Given the description of an element on the screen output the (x, y) to click on. 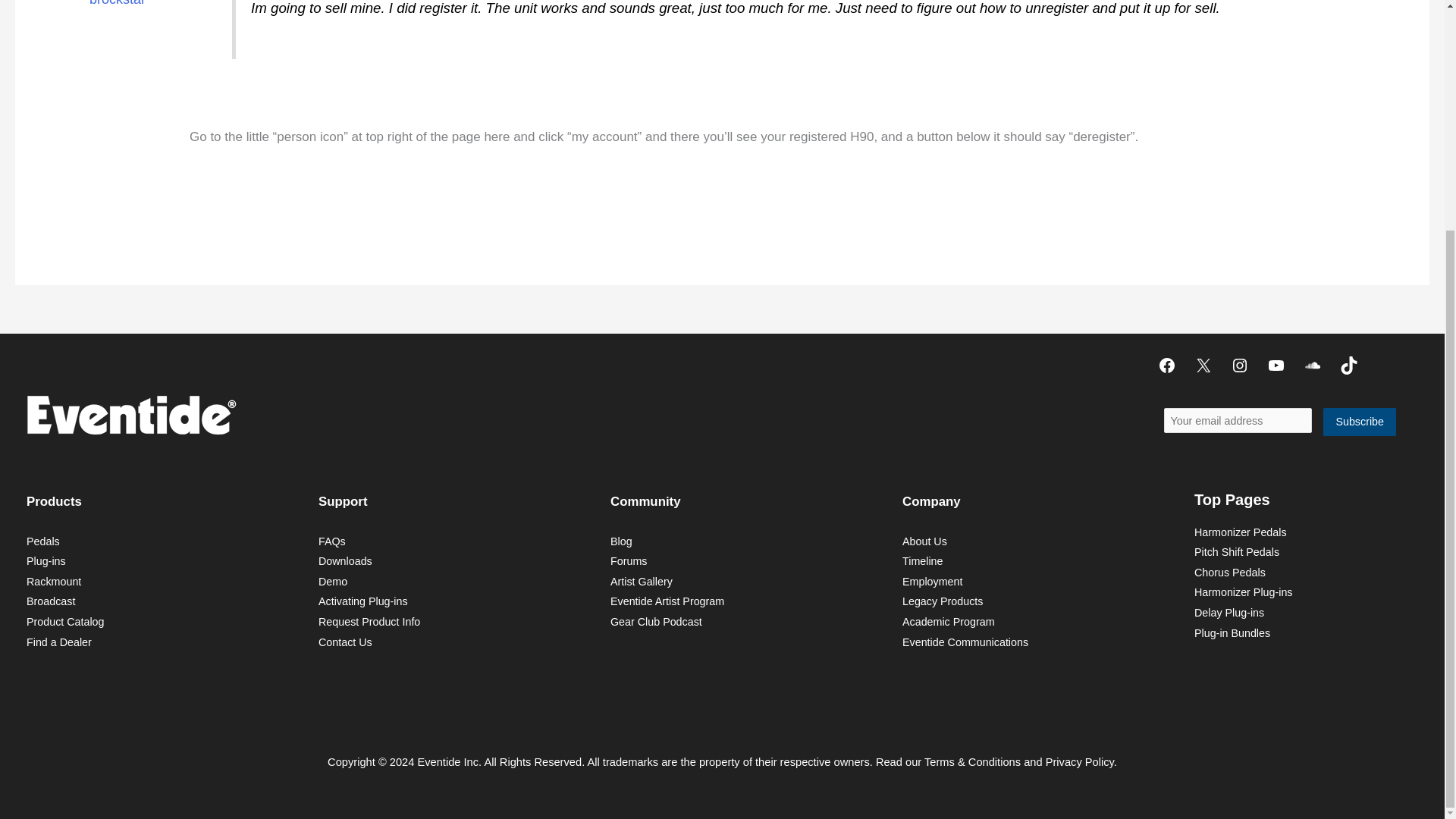
eventide-logo-white (130, 414)
View brockstar's profile (117, 6)
Subscribe (1359, 421)
